Given the description of an element on the screen output the (x, y) to click on. 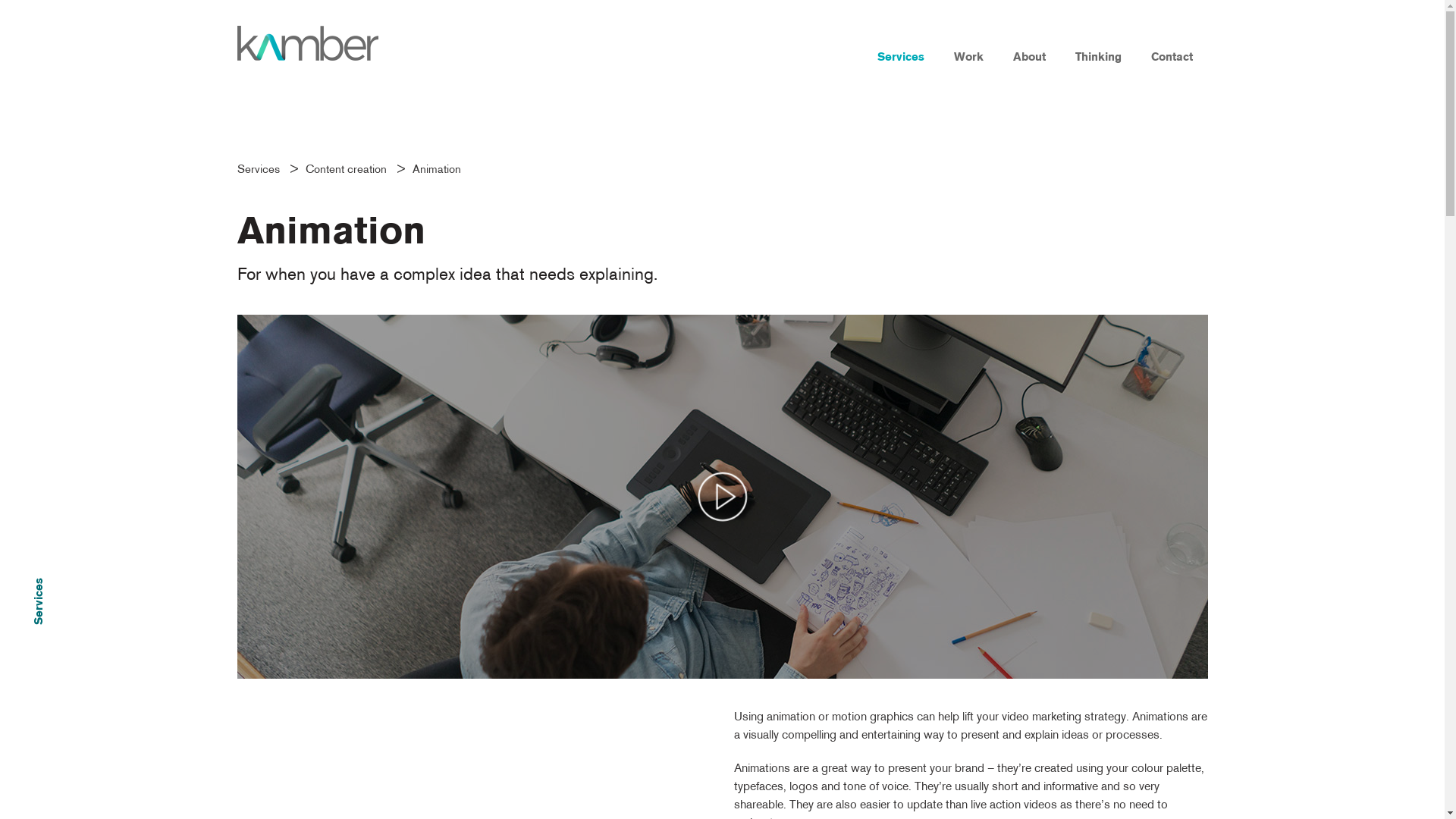
Animation Element type: text (440, 169)
Watch video Element type: hover (721, 496)
Contact Element type: text (1171, 41)
Work Element type: text (967, 41)
Services Element type: text (261, 169)
Thinking Element type: text (1097, 41)
About Element type: text (1028, 41)
Services Element type: text (900, 41)
Content creation Element type: text (348, 169)
